Given the description of an element on the screen output the (x, y) to click on. 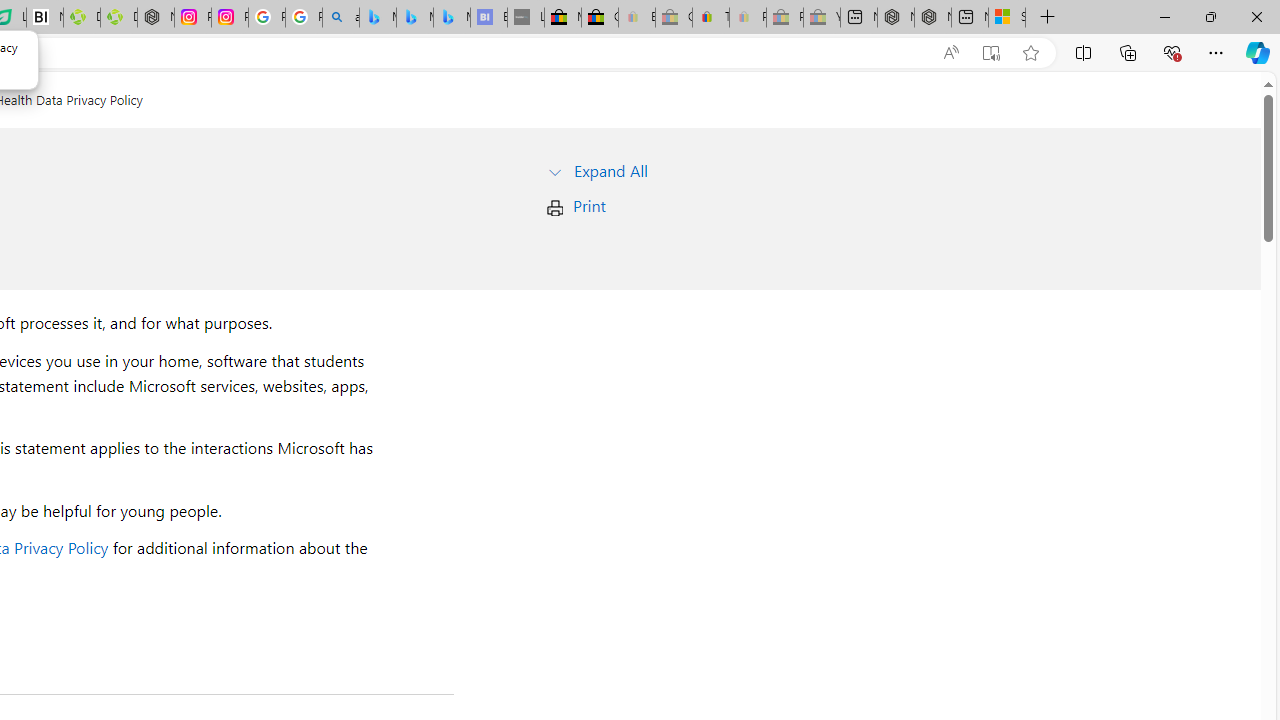
Microsoft Bing Travel - Shangri-La Hotel Bangkok (451, 17)
alabama high school quarterback dies - Search (340, 17)
Expand All (610, 170)
